Given the description of an element on the screen output the (x, y) to click on. 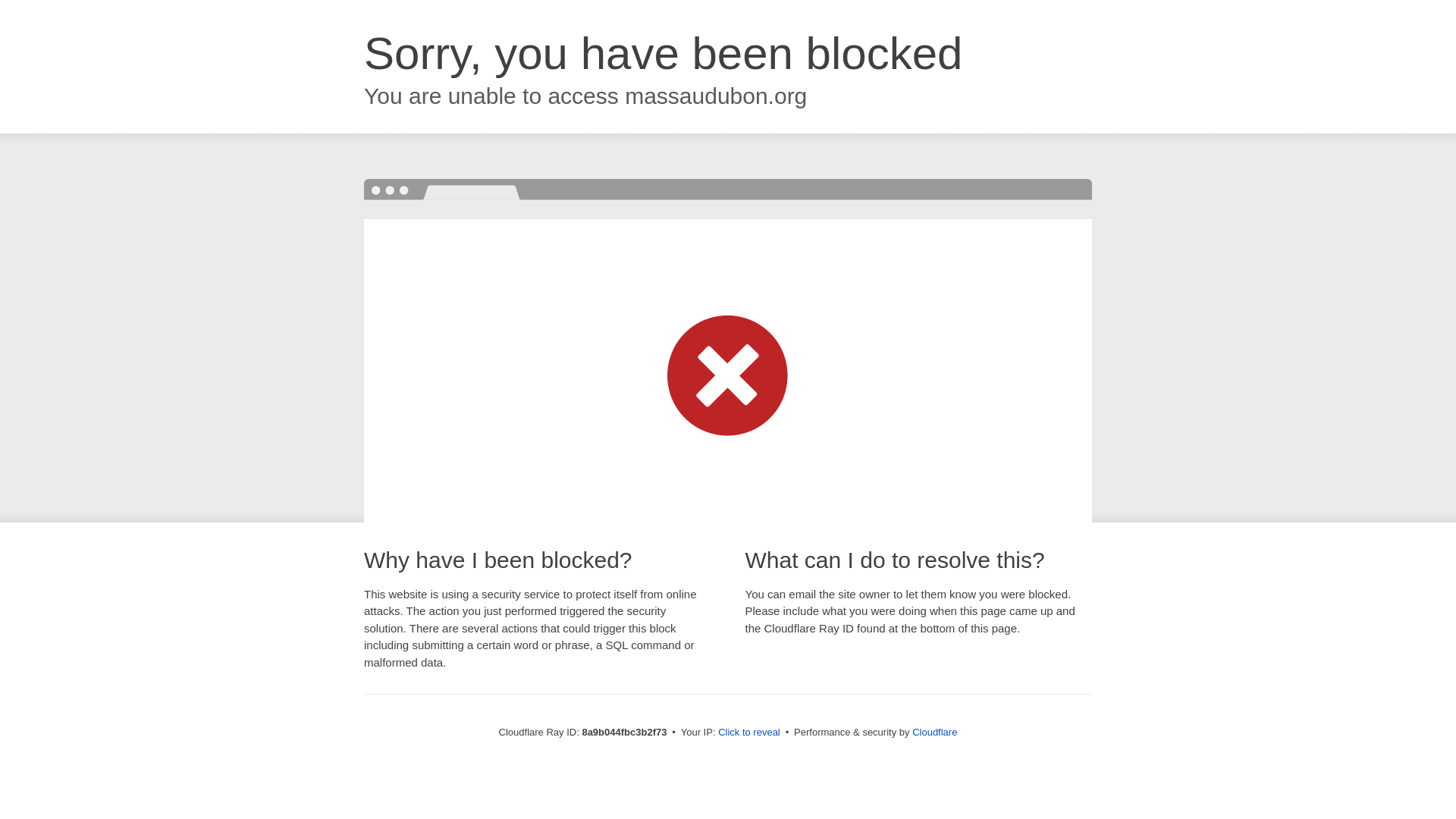
Cloudflare (934, 731)
Click to reveal (748, 732)
